Given the description of an element on the screen output the (x, y) to click on. 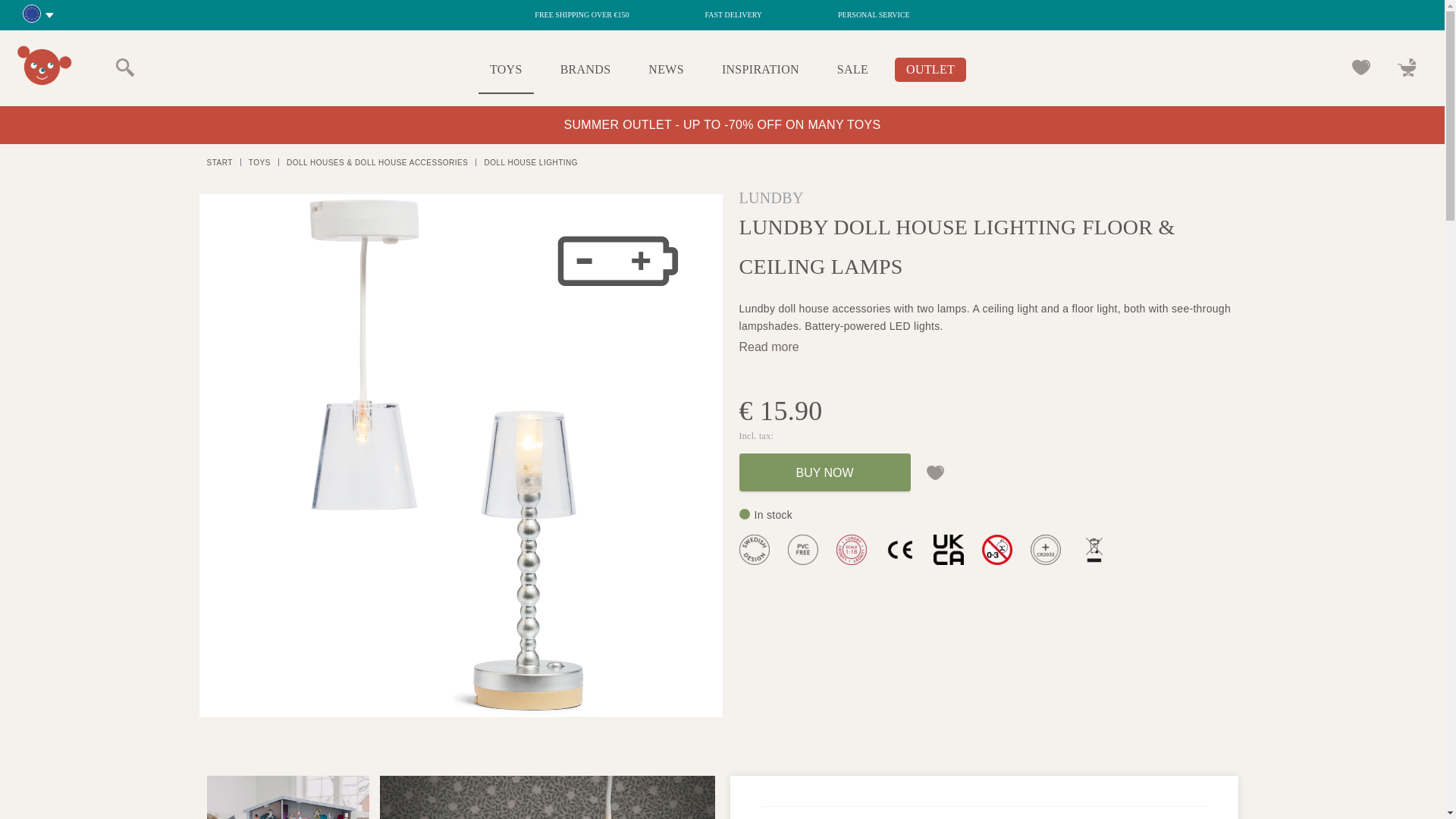
Micki (42, 65)
Favorites (1361, 67)
Cart (1406, 67)
